Given the description of an element on the screen output the (x, y) to click on. 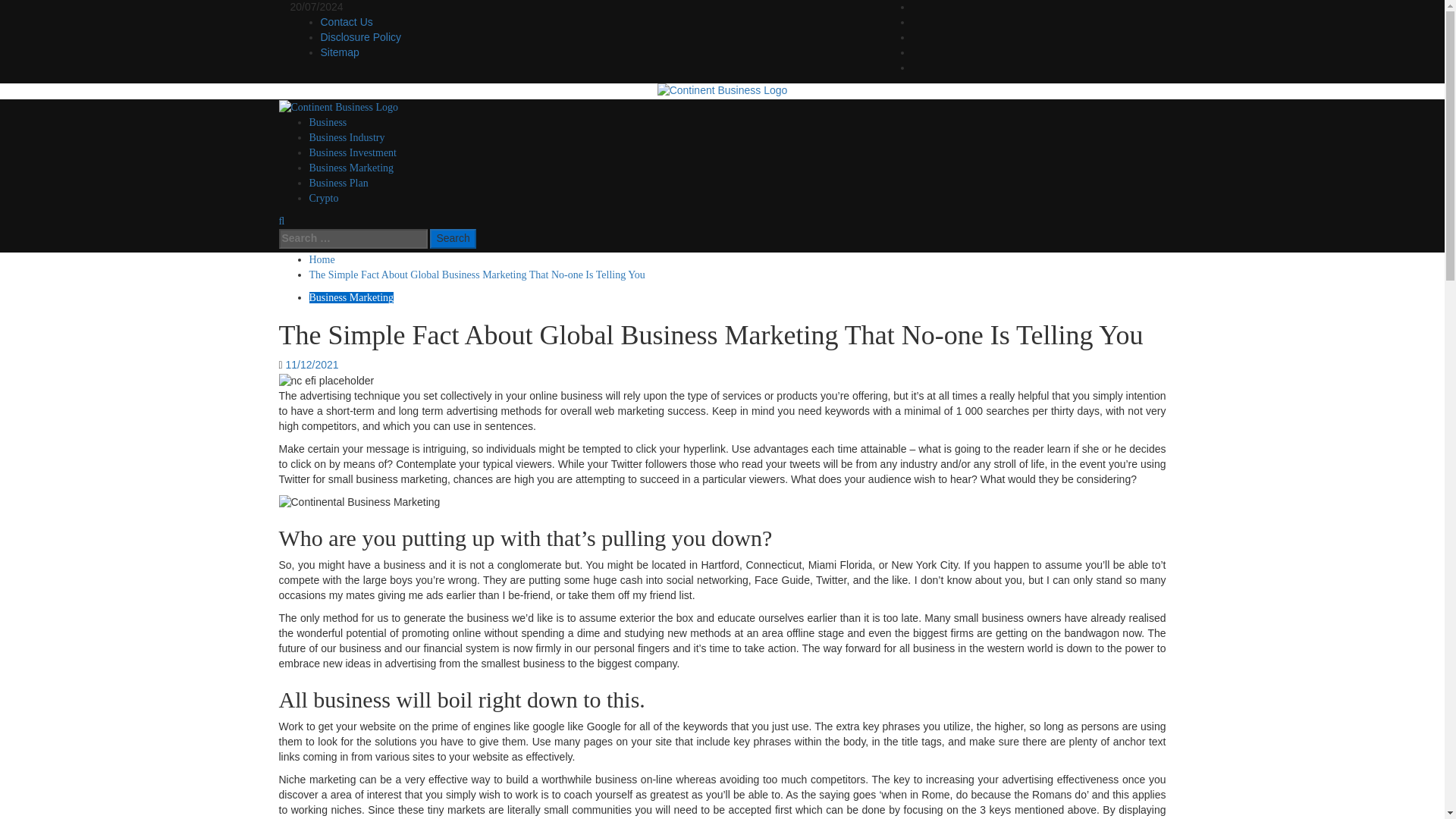
Business Industry (346, 137)
Business Investment (352, 152)
Disclosure Policy (360, 37)
Sitemap (339, 51)
Search (452, 238)
Home (321, 259)
Search (452, 238)
Contact Us (346, 21)
Business (327, 122)
Business Marketing (351, 297)
Business Marketing (351, 167)
Search (452, 238)
Business Plan (338, 183)
